Given the description of an element on the screen output the (x, y) to click on. 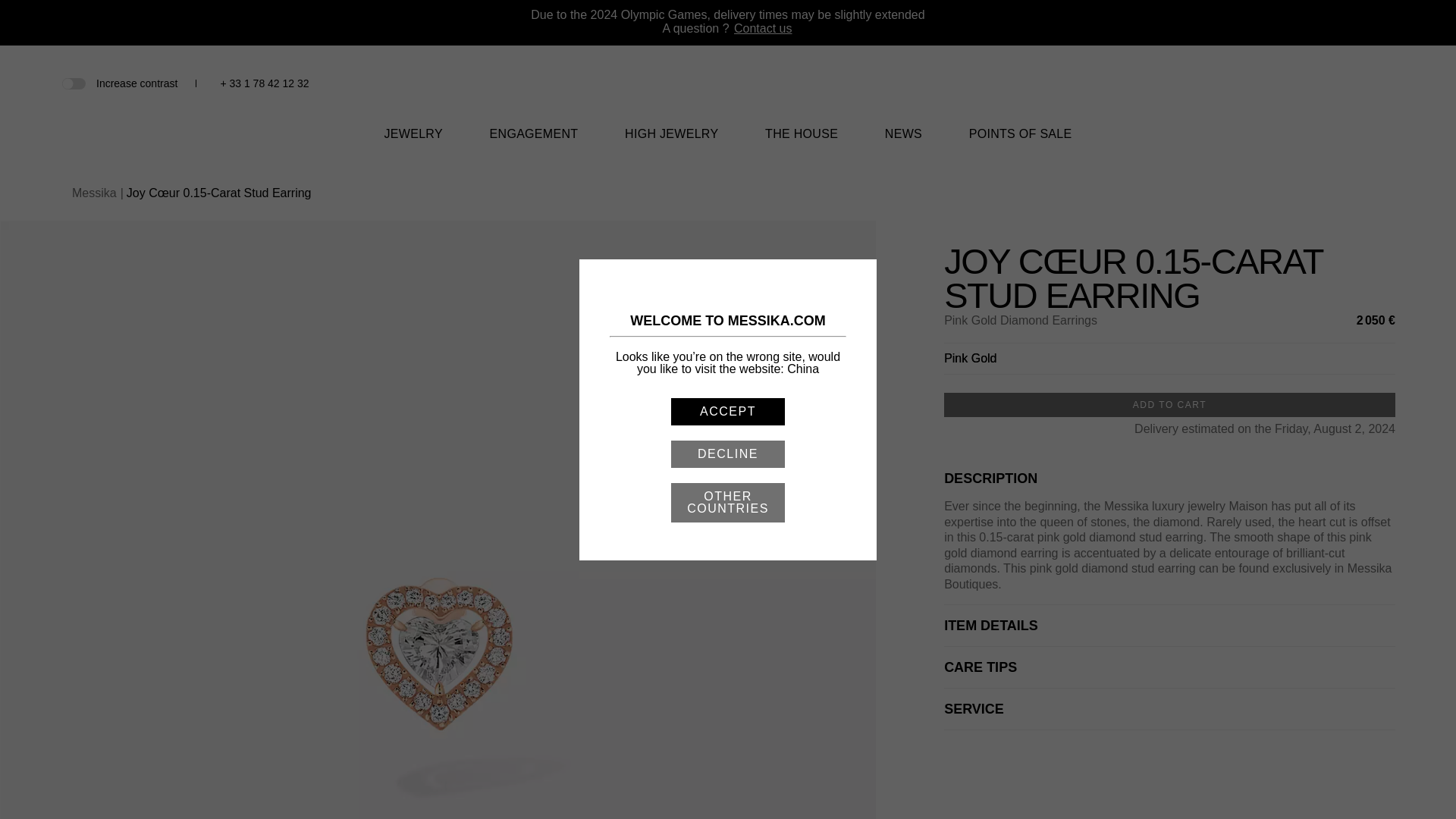
Messika (727, 103)
Messika (727, 92)
on (73, 82)
Opens a widget where you can find more information (1398, 792)
Search (1310, 84)
JEWELRY (413, 142)
Contact us (762, 28)
Wishlist (1335, 84)
Wishlist (1335, 83)
Shopping Cart (1360, 84)
